Given the description of an element on the screen output the (x, y) to click on. 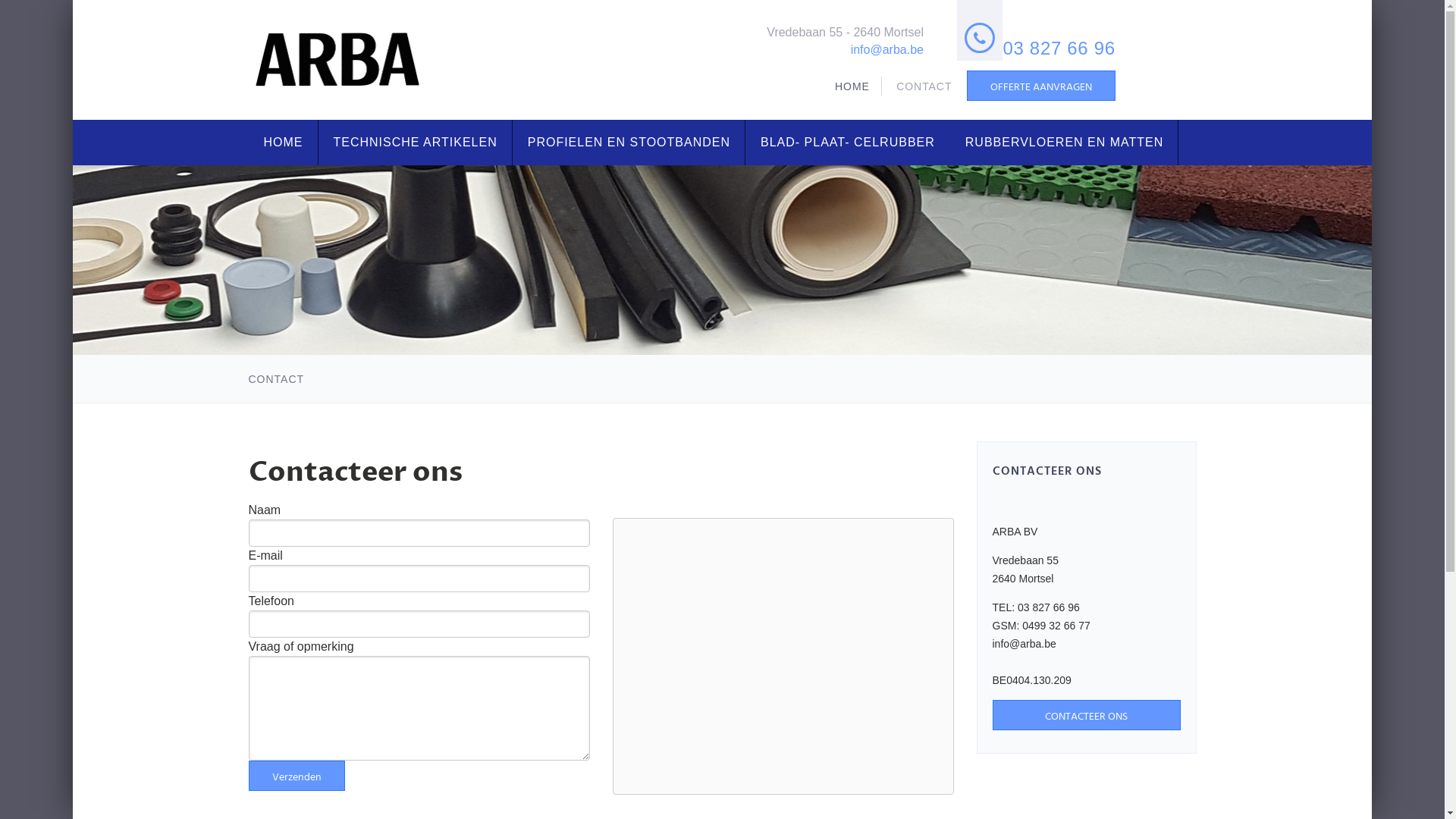
TECHNISCHE ARTIKELEN Element type: text (415, 142)
RUBBERVLOEREN EN MATTEN Element type: text (1064, 142)
PROFIELEN EN STOOTBANDEN Element type: text (628, 142)
info@arba.be Element type: text (886, 48)
OFFERTE AANVRAGEN Element type: text (1040, 85)
CONTACTEER ONS Element type: text (1085, 714)
CONTACT Element type: text (923, 86)
03 827 66 96 Element type: text (1058, 47)
HOME Element type: text (851, 86)
Verzenden Element type: text (296, 775)
CONTACT Element type: text (276, 379)
BLAD- PLAAT- CELRUBBER Element type: text (847, 142)
HOME Element type: text (283, 142)
